Given the description of an element on the screen output the (x, y) to click on. 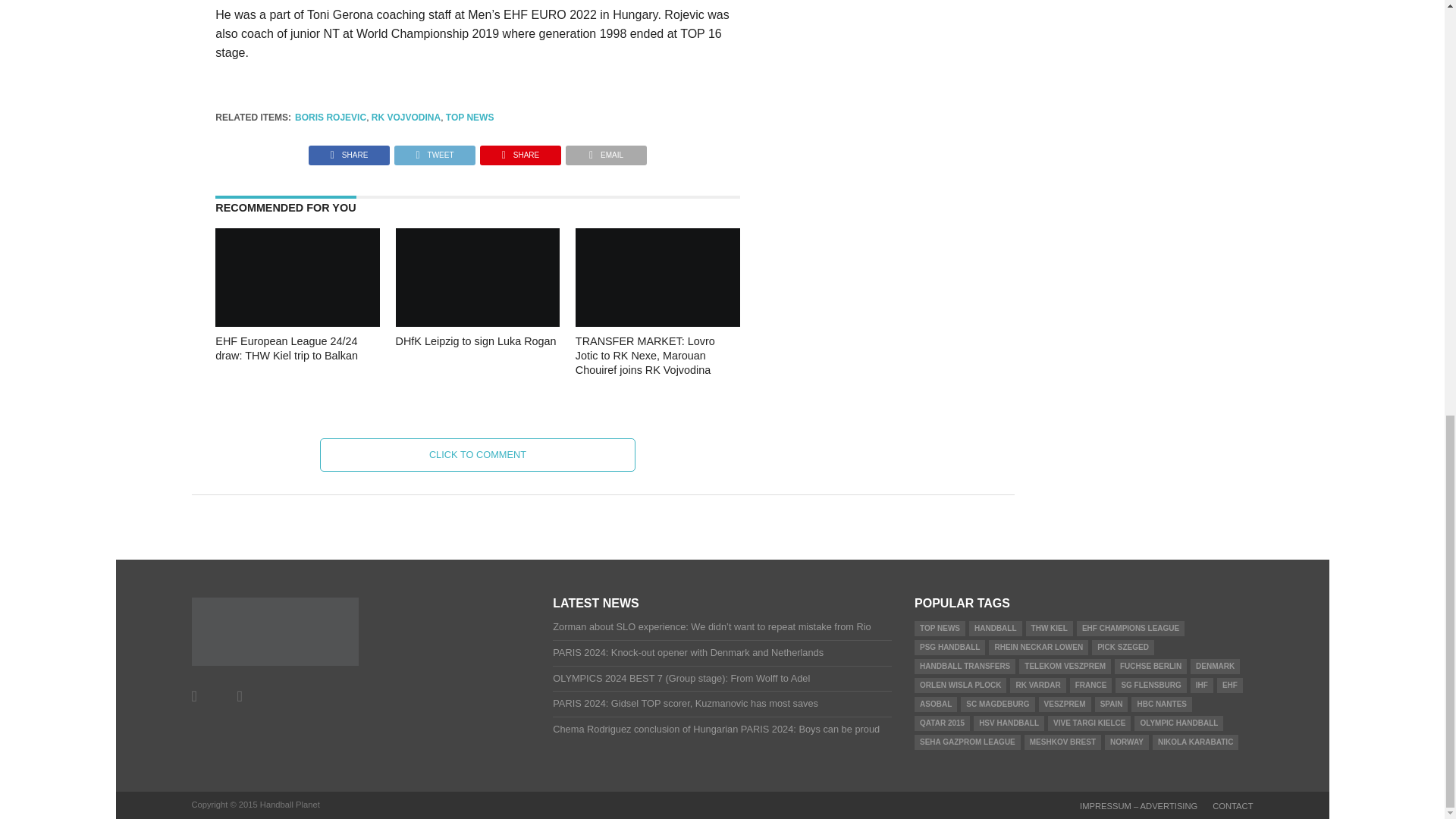
Tweet This Post (434, 151)
Pin This Post (520, 151)
DHfK Leipzig to sign Luka Rogan (478, 322)
Share on Facebook (349, 151)
